Given the description of an element on the screen output the (x, y) to click on. 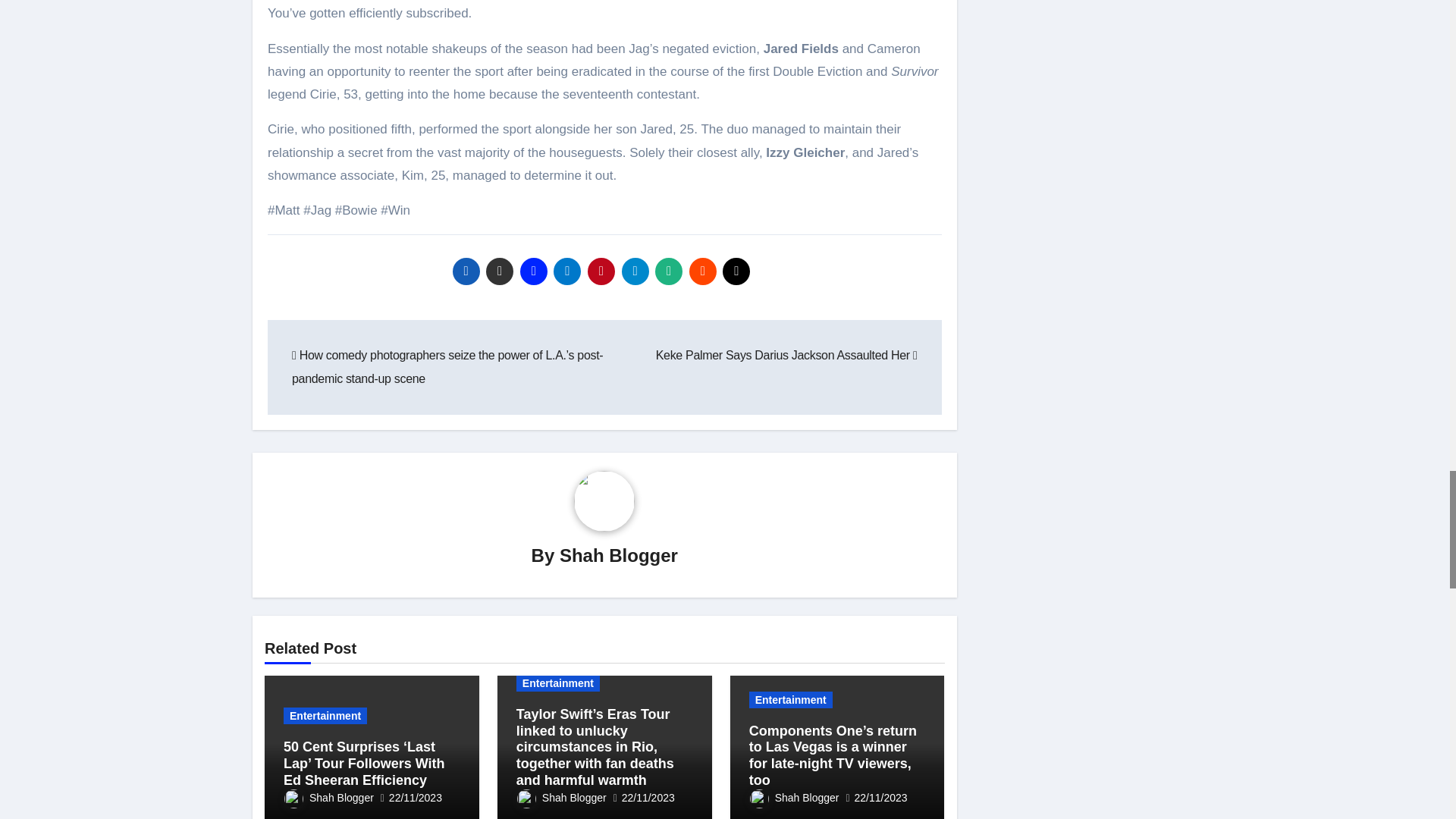
Keke Palmer Says Darius Jackson Assaulted Her (786, 354)
